Given the description of an element on the screen output the (x, y) to click on. 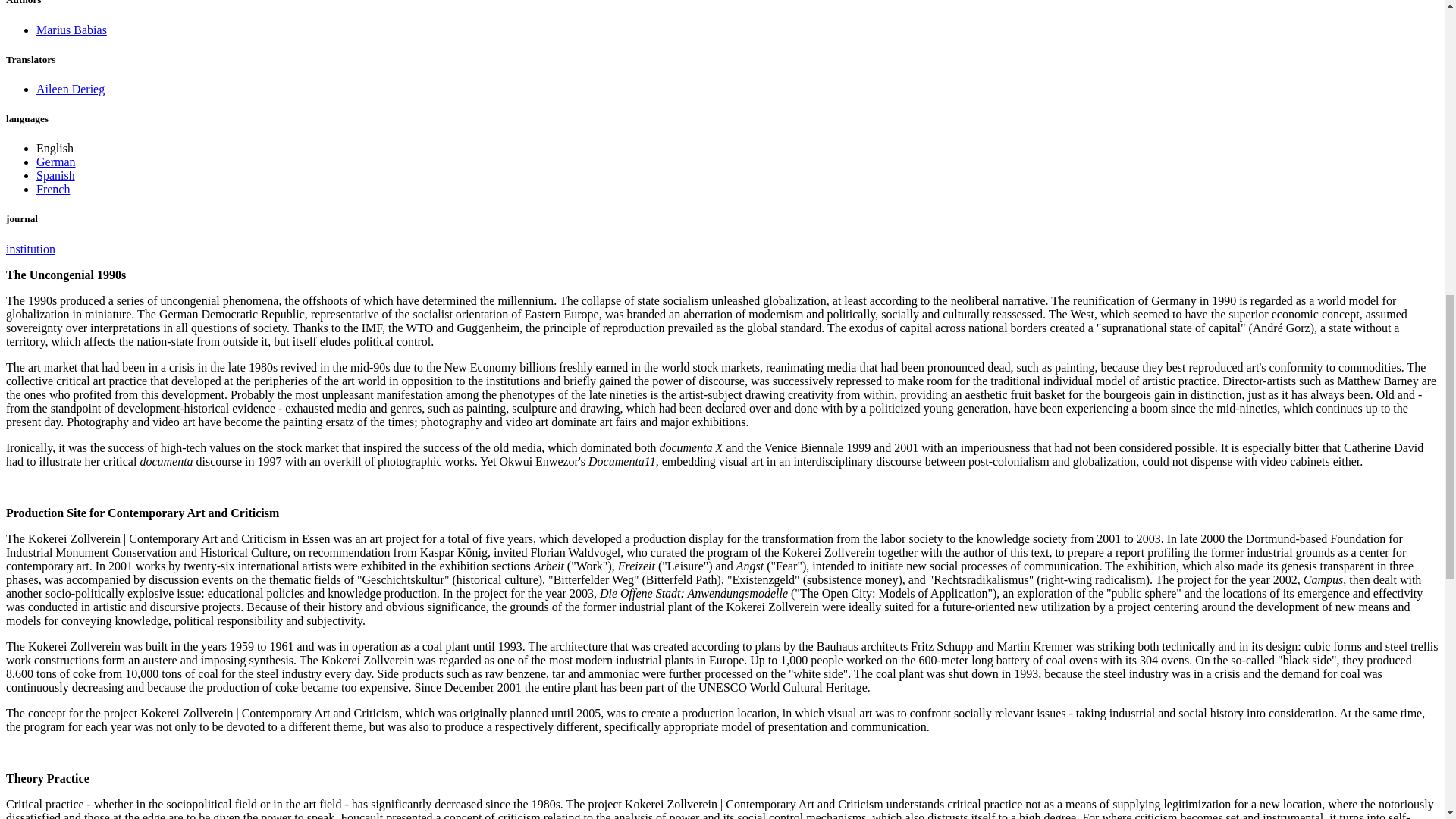
Marius Babias (71, 29)
Spanish (55, 174)
institution (30, 248)
German (55, 161)
French (52, 188)
Aileen Derieg (70, 88)
